Given the description of an element on the screen output the (x, y) to click on. 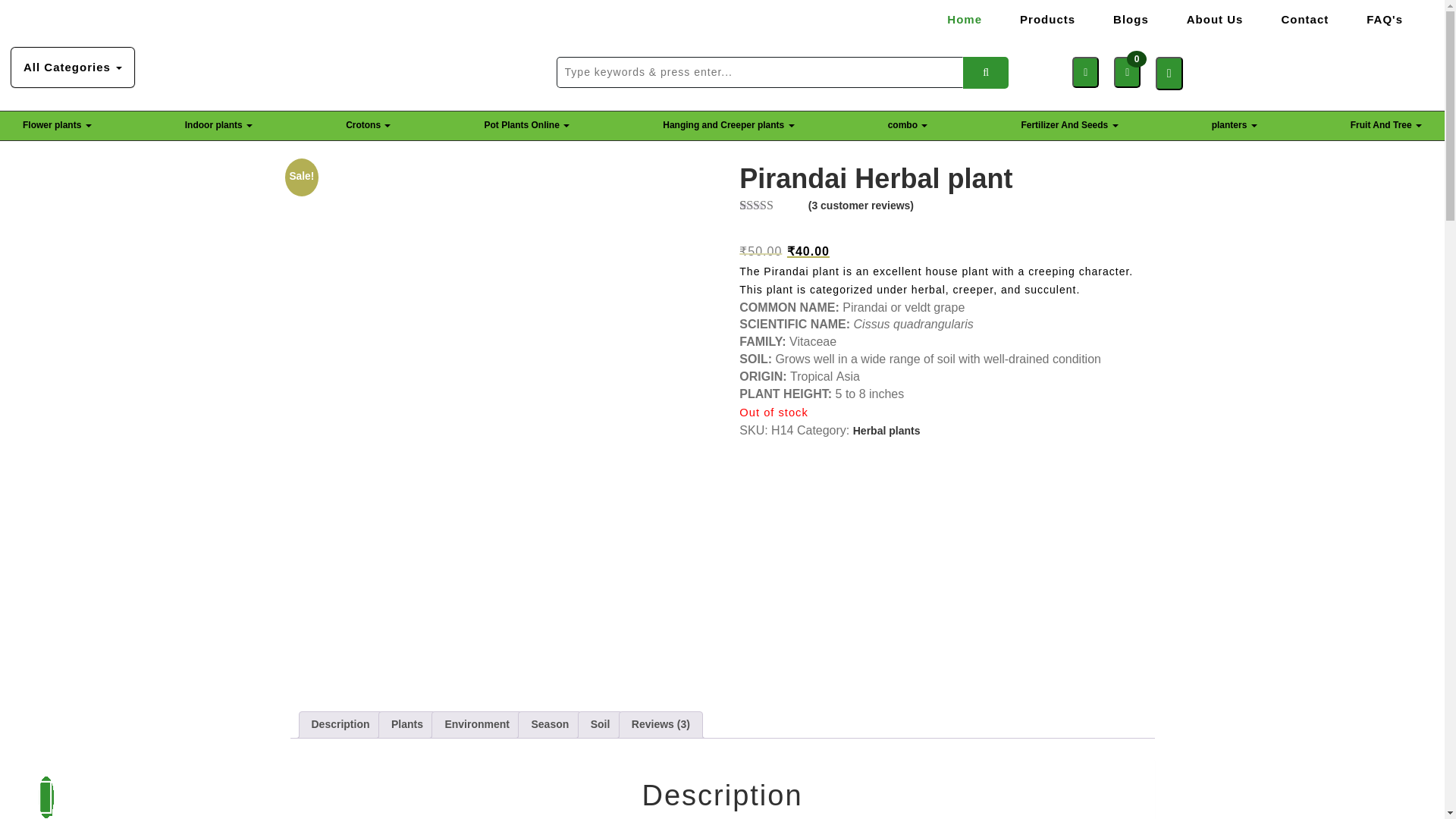
Products (1047, 19)
FAQ's (1384, 19)
Contact (1304, 19)
All Categories (72, 66)
product (985, 71)
About Us (1214, 19)
Blogs (1130, 19)
